Given the description of an element on the screen output the (x, y) to click on. 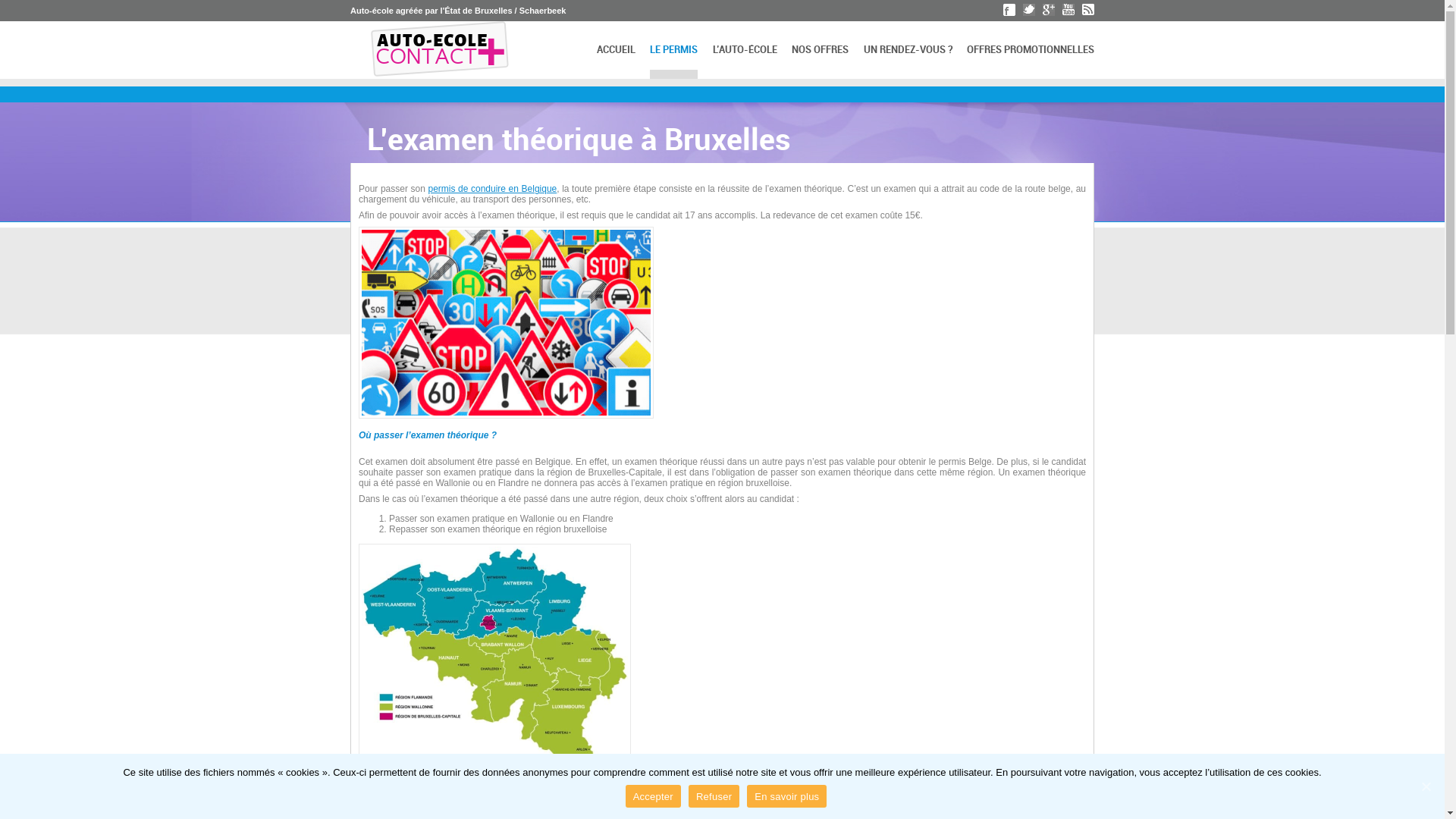
Google + Element type: text (1048, 9)
Youtube Element type: text (1068, 9)
Twitter Element type: text (1028, 9)
Refuser Element type: text (713, 795)
RSS Element type: text (1088, 9)
En savoir plus Element type: text (786, 795)
OFFRES PROMOTIONNELLES Element type: text (1030, 49)
Accepter Element type: text (652, 795)
ACCUEIL Element type: text (615, 49)
NOS OFFRES Element type: text (819, 49)
Facebook Element type: text (1009, 9)
UN RENDEZ-VOUS ? Element type: text (907, 49)
LE PERMIS Element type: text (673, 49)
permis de conduire en Belgique Element type: text (491, 188)
